Given the description of an element on the screen output the (x, y) to click on. 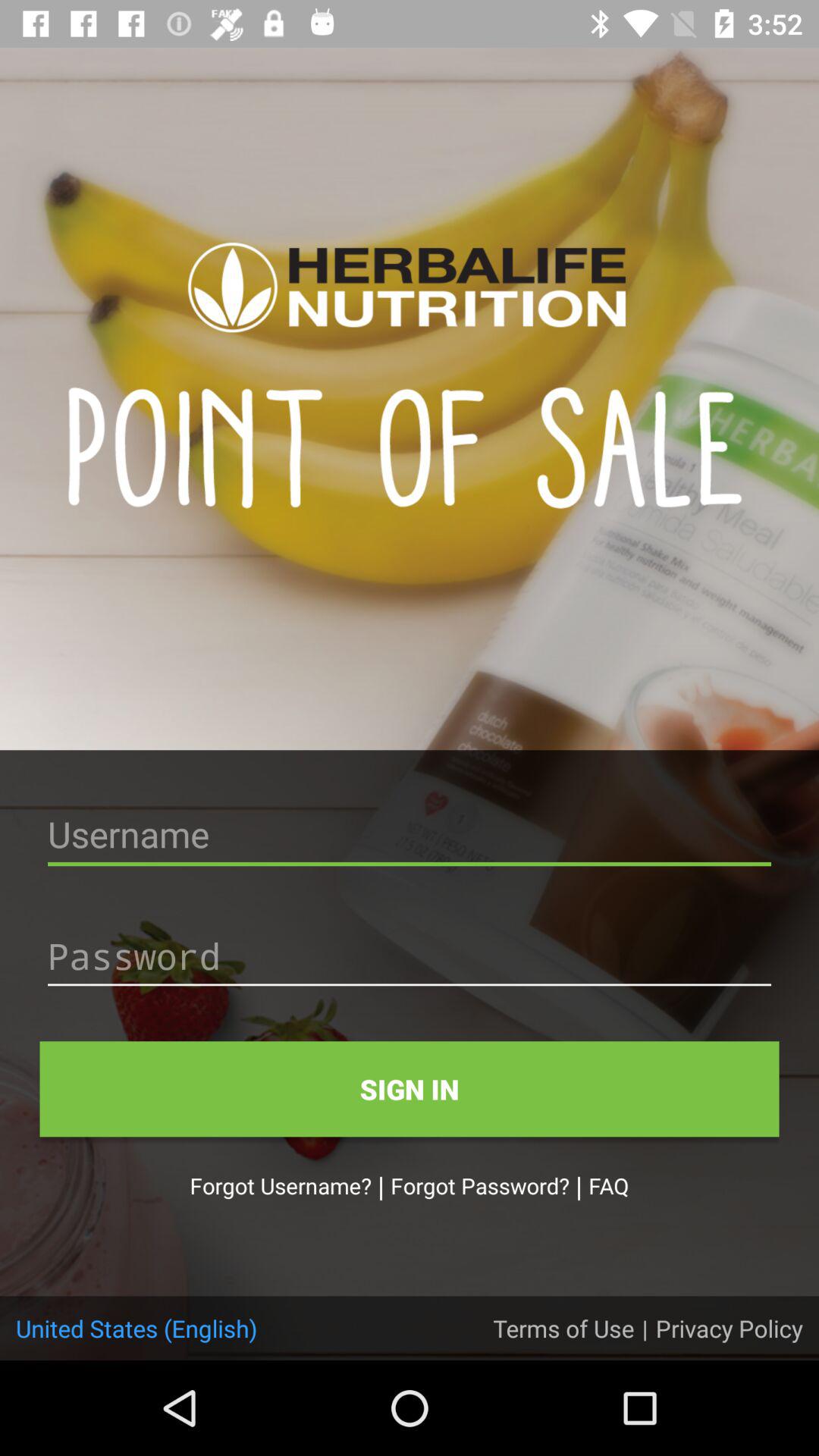
launch the icon next to | icon (563, 1328)
